Given the description of an element on the screen output the (x, y) to click on. 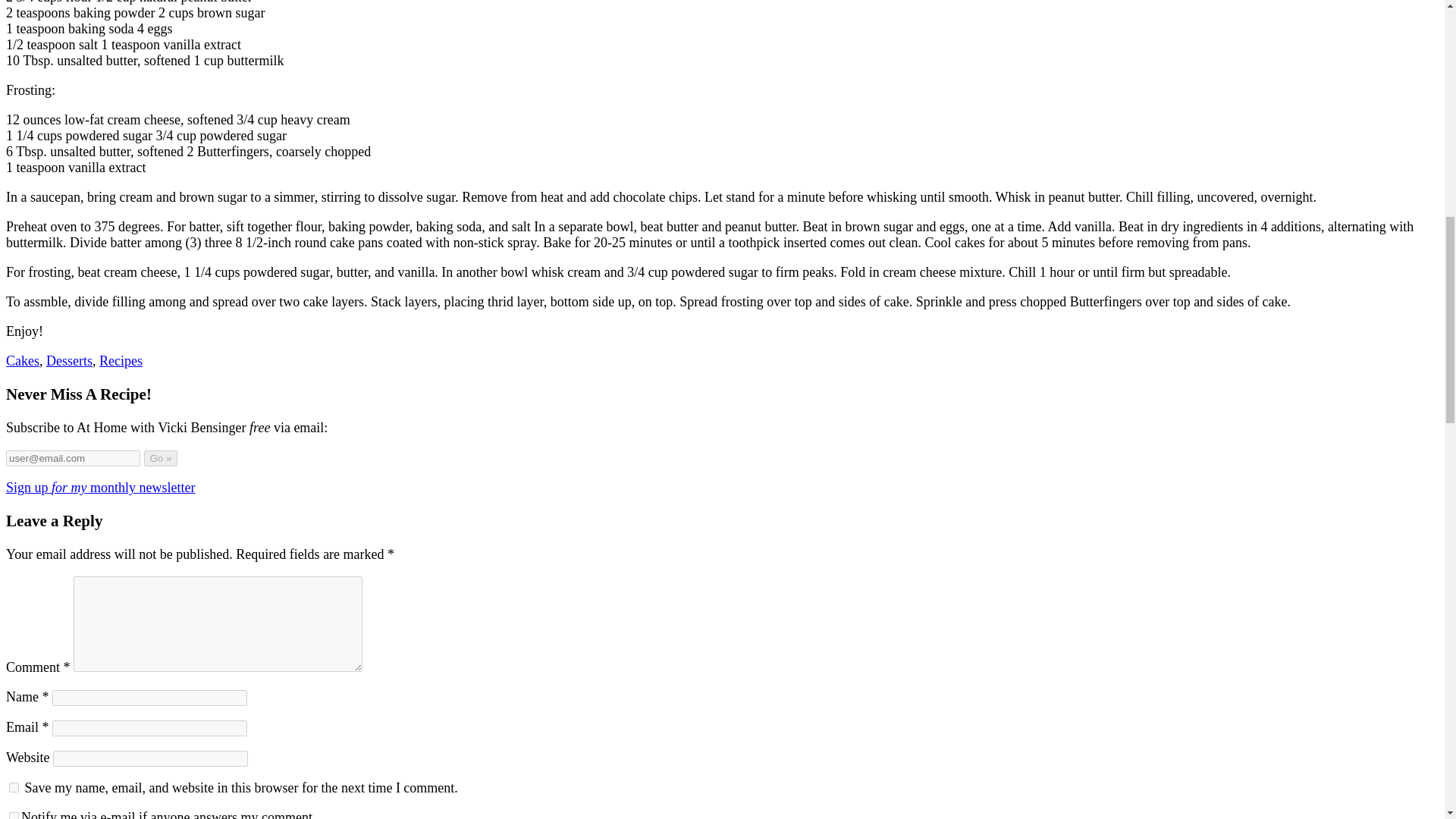
Recipes (120, 360)
Cakes (22, 360)
Sign up for my monthly newsletter (100, 487)
Desserts (69, 360)
yes (13, 787)
on (13, 815)
